Given the description of an element on the screen output the (x, y) to click on. 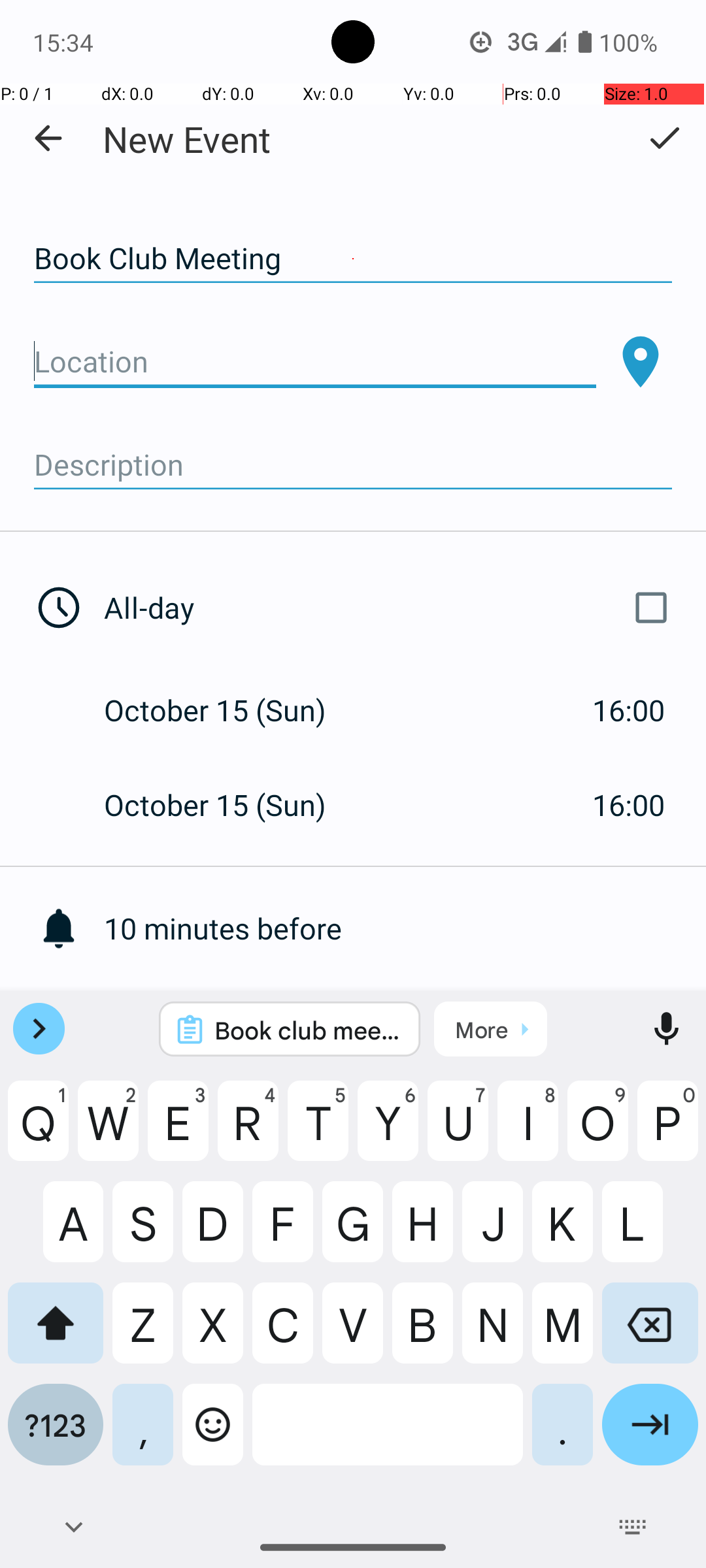
Book Club Meeting Element type: android.widget.EditText (352, 258)
Location Element type: android.widget.EditText (314, 361)
October 15 (Sun) Element type: android.widget.TextView (228, 709)
16:00 Element type: android.widget.TextView (628, 709)
10 minutes before Element type: android.widget.TextView (404, 927)
Add another reminder Element type: android.widget.TextView (404, 1022)
All-day Element type: android.widget.CheckBox (390, 607)
Book club meets next Tuesday to discuss '1984'. Element type: android.widget.TextView (306, 1029)
